Given the description of an element on the screen output the (x, y) to click on. 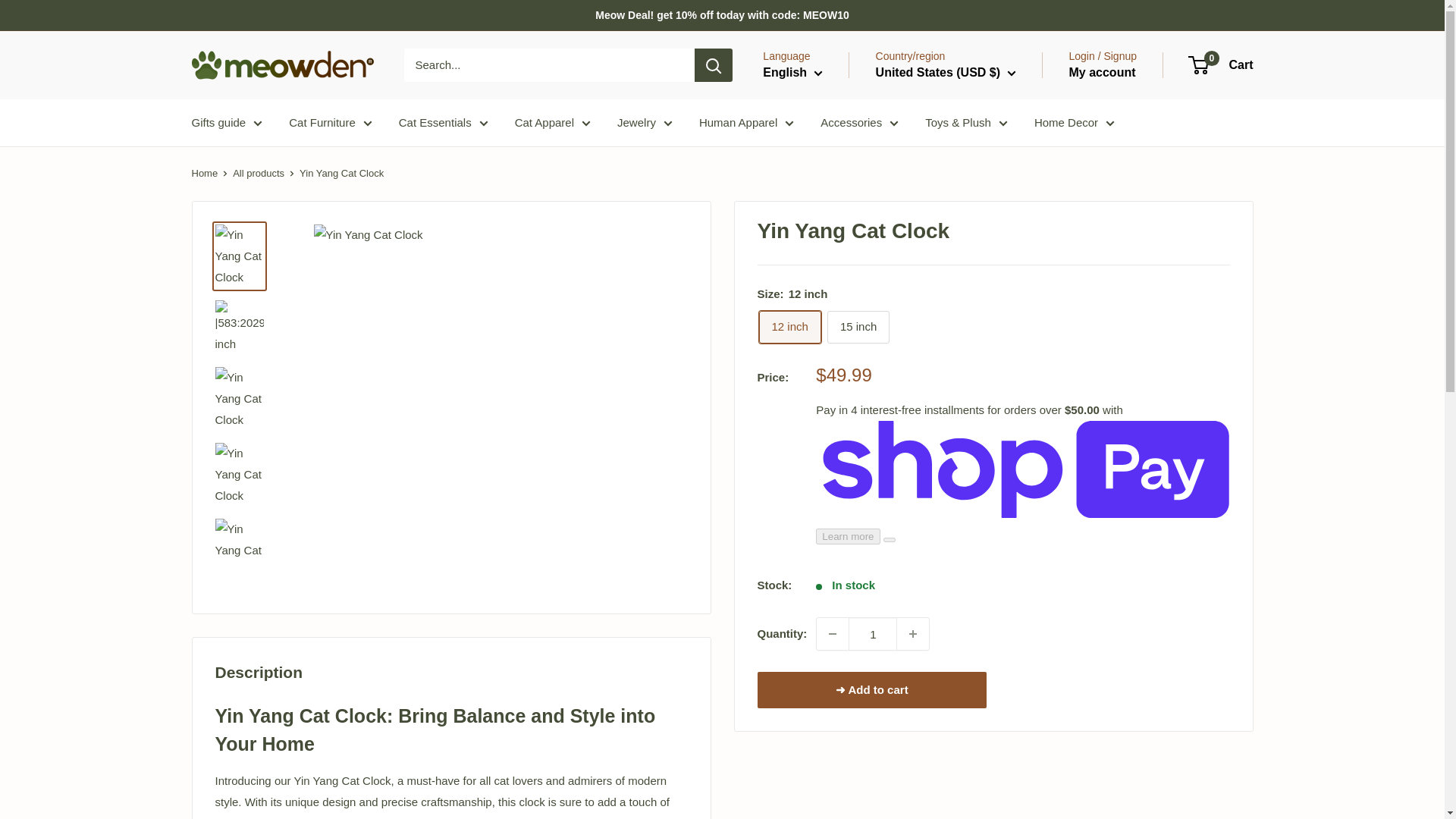
1 (872, 634)
12 inch (789, 327)
Decrease quantity by 1 (832, 634)
15 inch (858, 327)
Increase quantity by 1 (912, 634)
